Given the description of an element on the screen output the (x, y) to click on. 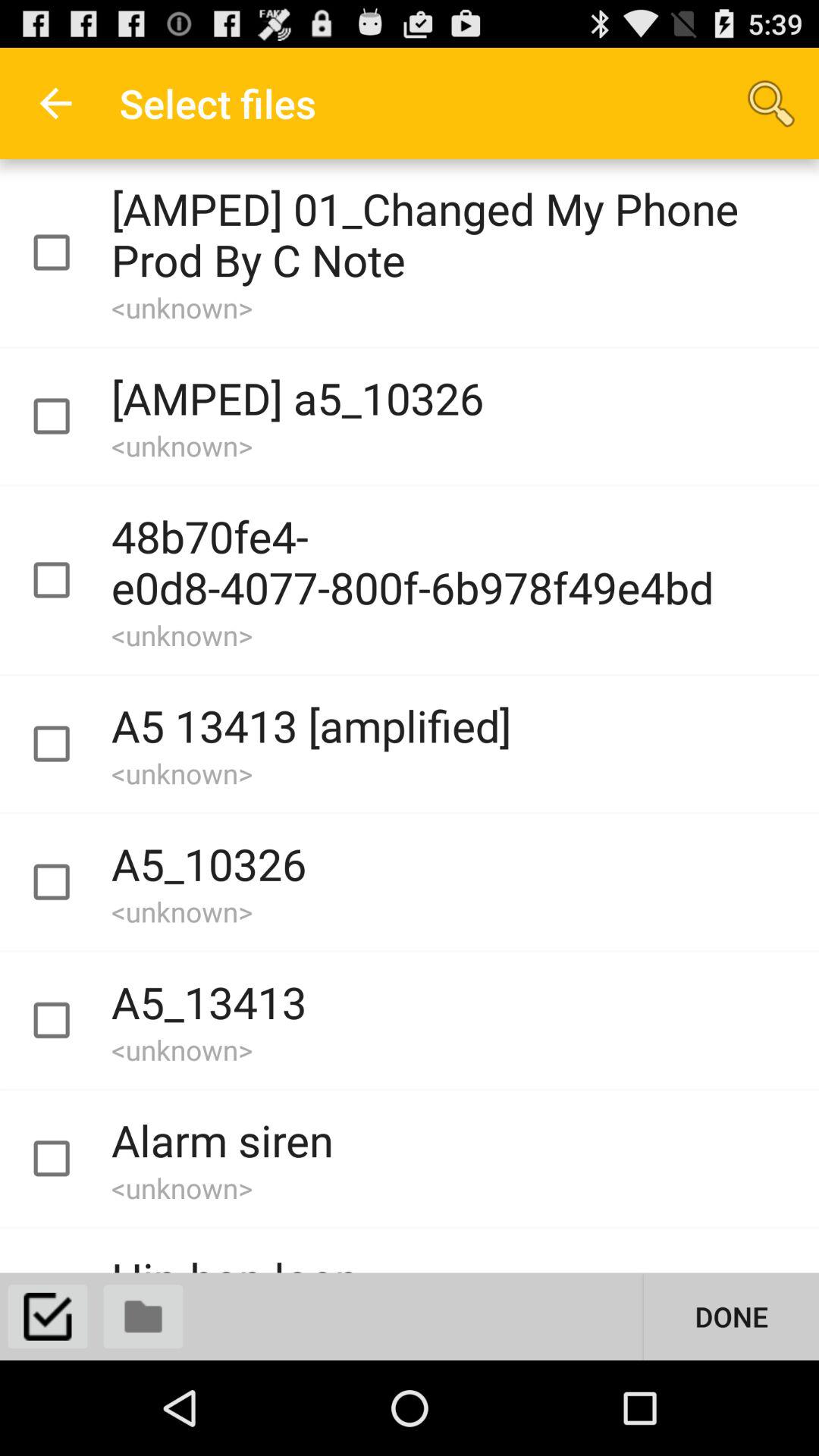
open the button to the left of the done icon (143, 1316)
